Given the description of an element on the screen output the (x, y) to click on. 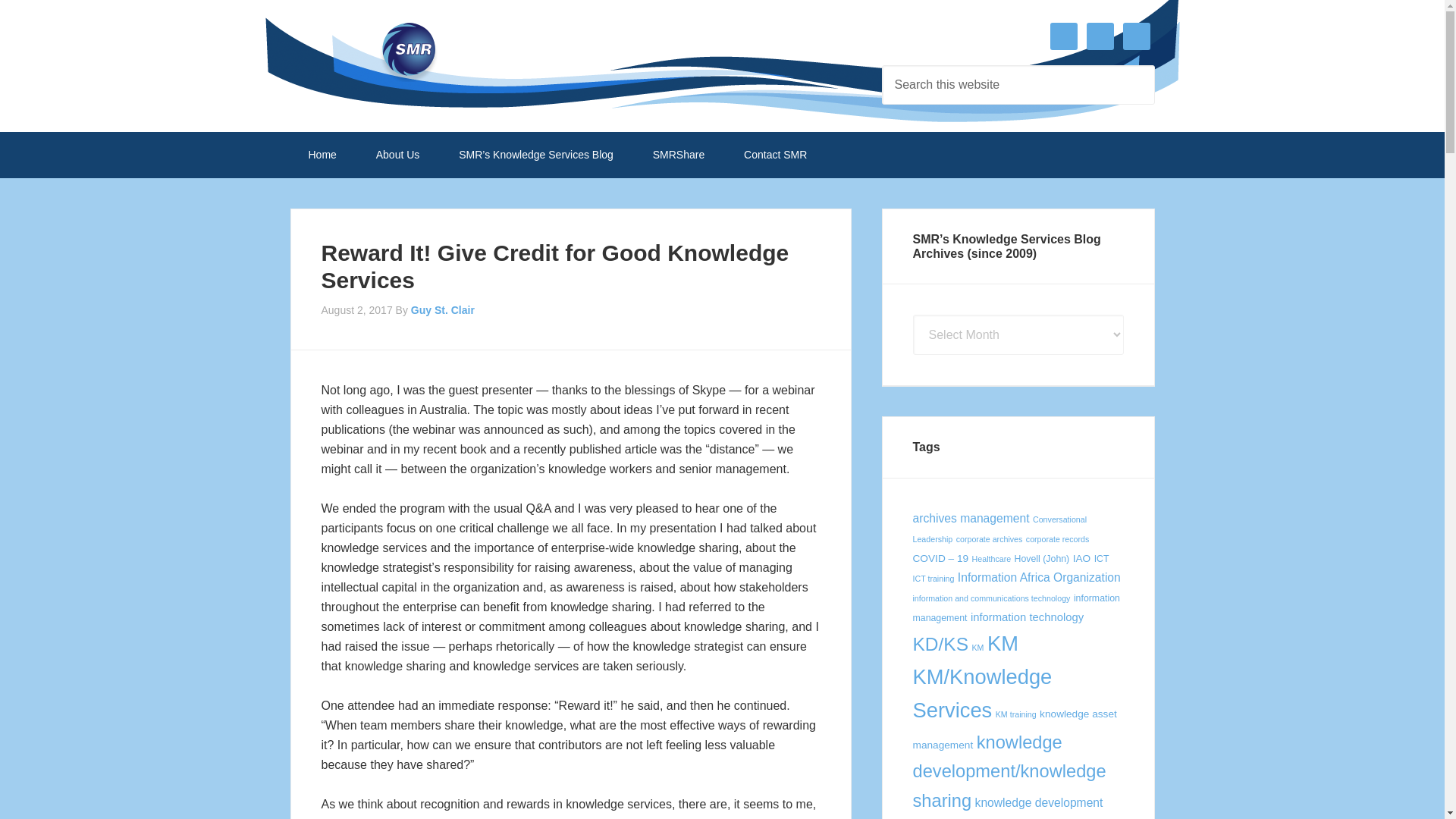
Guy St. Clair (442, 309)
SMR Knowledge (410, 56)
KM training (1015, 714)
archives management (970, 517)
information management (1015, 607)
Information Africa Organization (1039, 576)
Contact SMR (775, 154)
KM (977, 646)
About Us (398, 154)
